Given the description of an element on the screen output the (x, y) to click on. 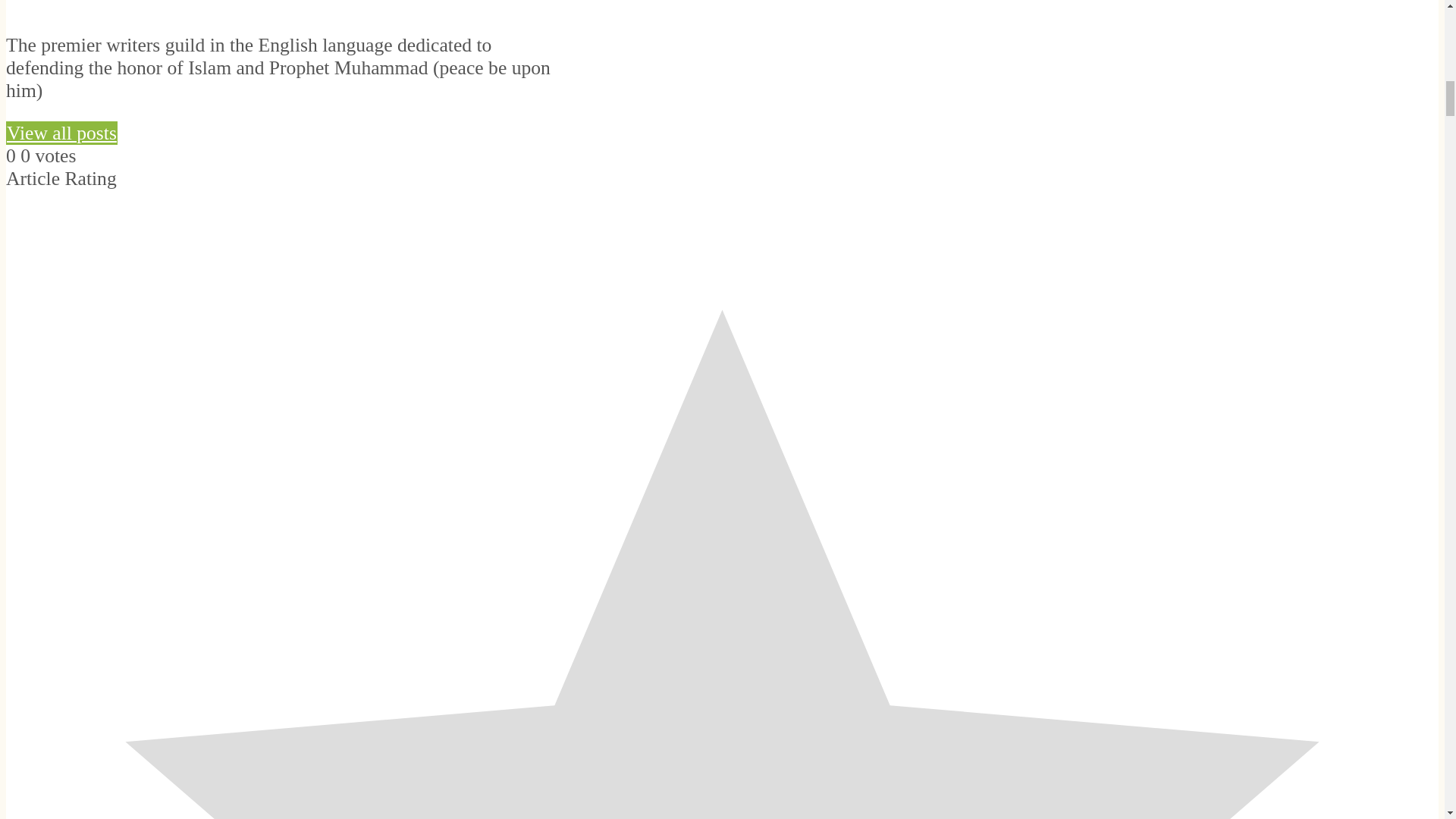
View all posts (61, 132)
